Given the description of an element on the screen output the (x, y) to click on. 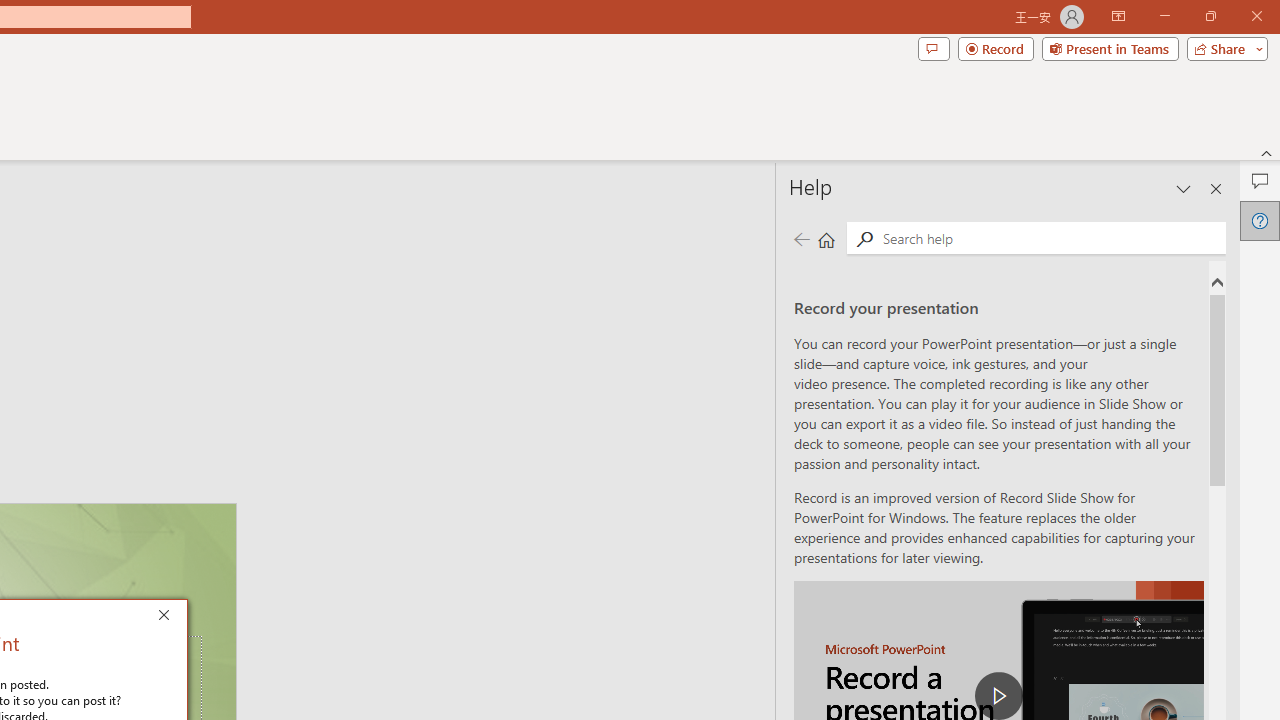
Search (1049, 237)
Restore Down (1210, 16)
Home (826, 238)
Close pane (1215, 188)
